Given the description of an element on the screen output the (x, y) to click on. 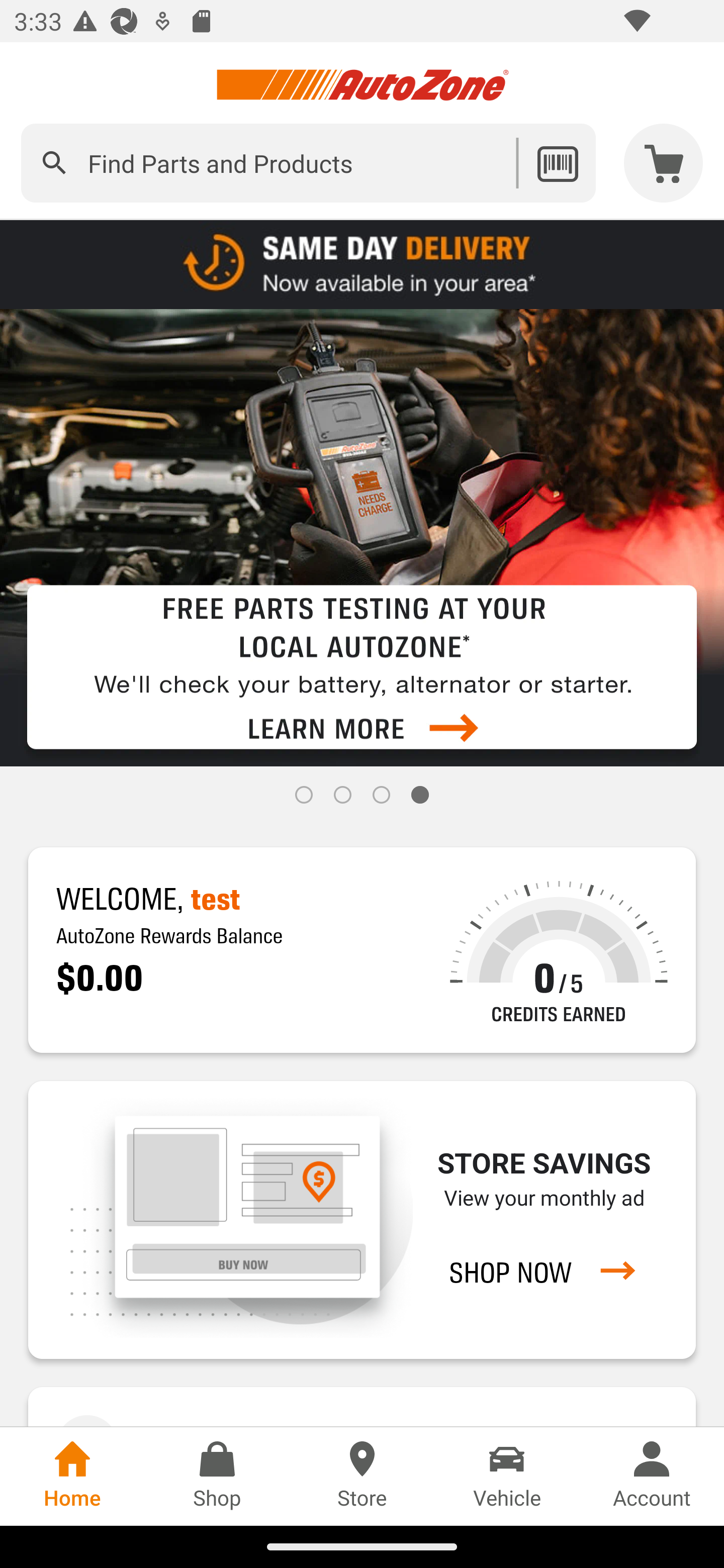
 scan-product-to-search  (557, 162)
 (54, 163)
Cart, no items  (663, 162)
Same Day Delivery - now available in your area* (362, 262)
Home (72, 1475)
Shop (216, 1475)
Store (361, 1475)
Vehicle (506, 1475)
Account (651, 1475)
